Given the description of an element on the screen output the (x, y) to click on. 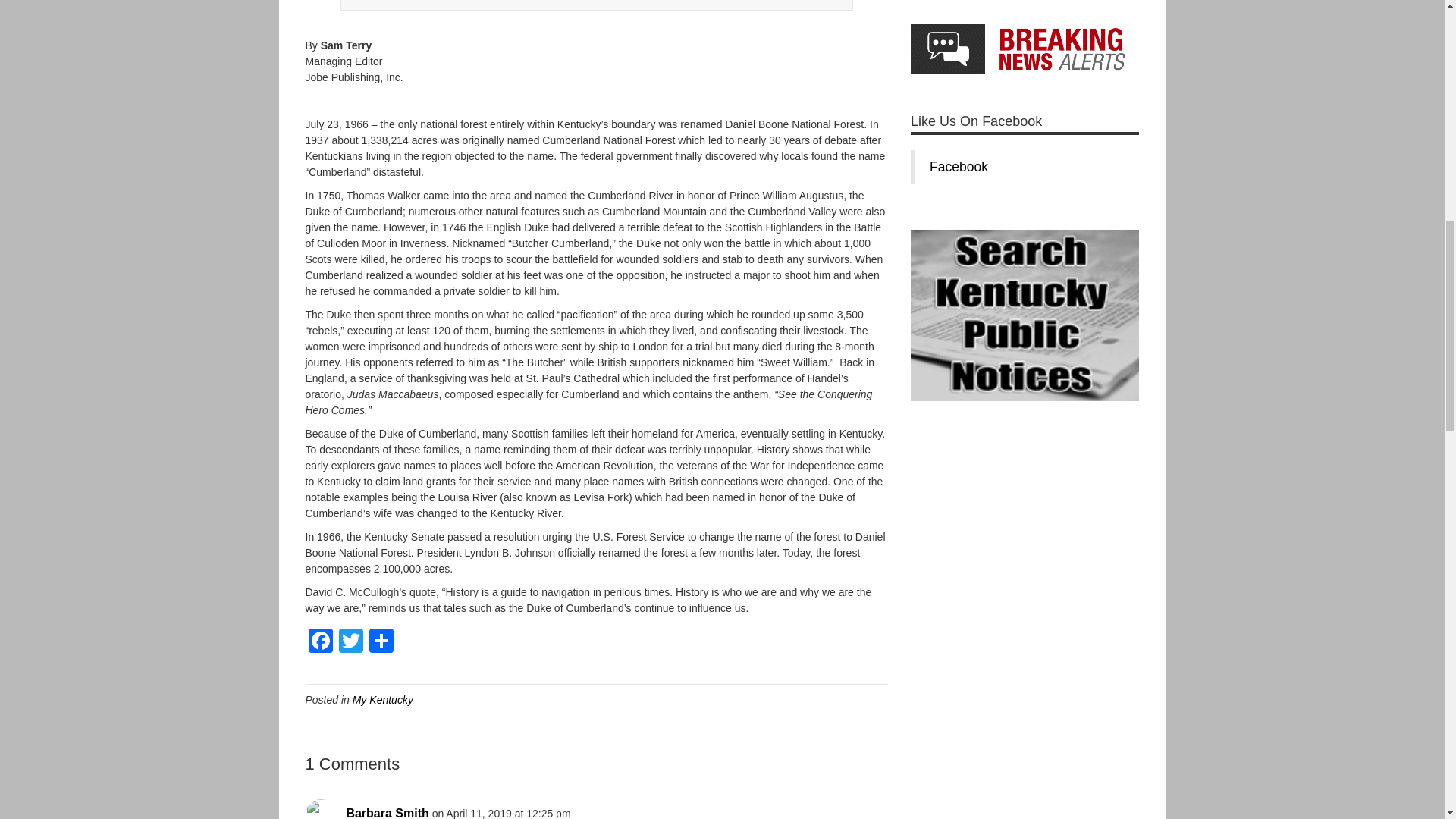
Twitter (349, 642)
Facebook (319, 642)
